Given the description of an element on the screen output the (x, y) to click on. 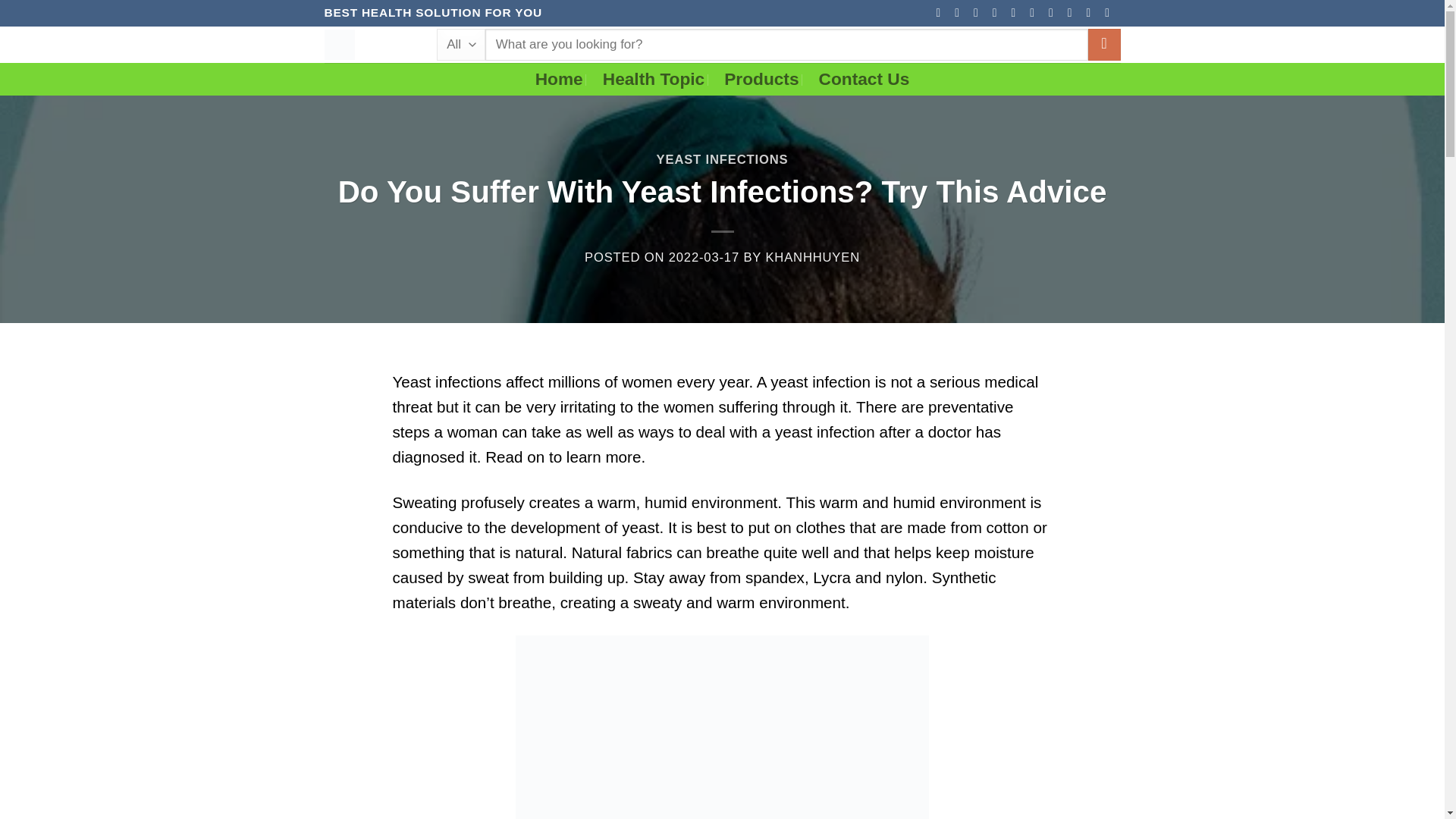
Home (559, 79)
Best Heath Solution For You - Best Heath Solution For You (368, 44)
KHANHHUYEN (812, 257)
Contact Us (864, 79)
Products (760, 79)
Health Topic (653, 79)
YEAST INFECTIONS (722, 159)
Search (1104, 44)
2022-03-17 (703, 257)
